Given the description of an element on the screen output the (x, y) to click on. 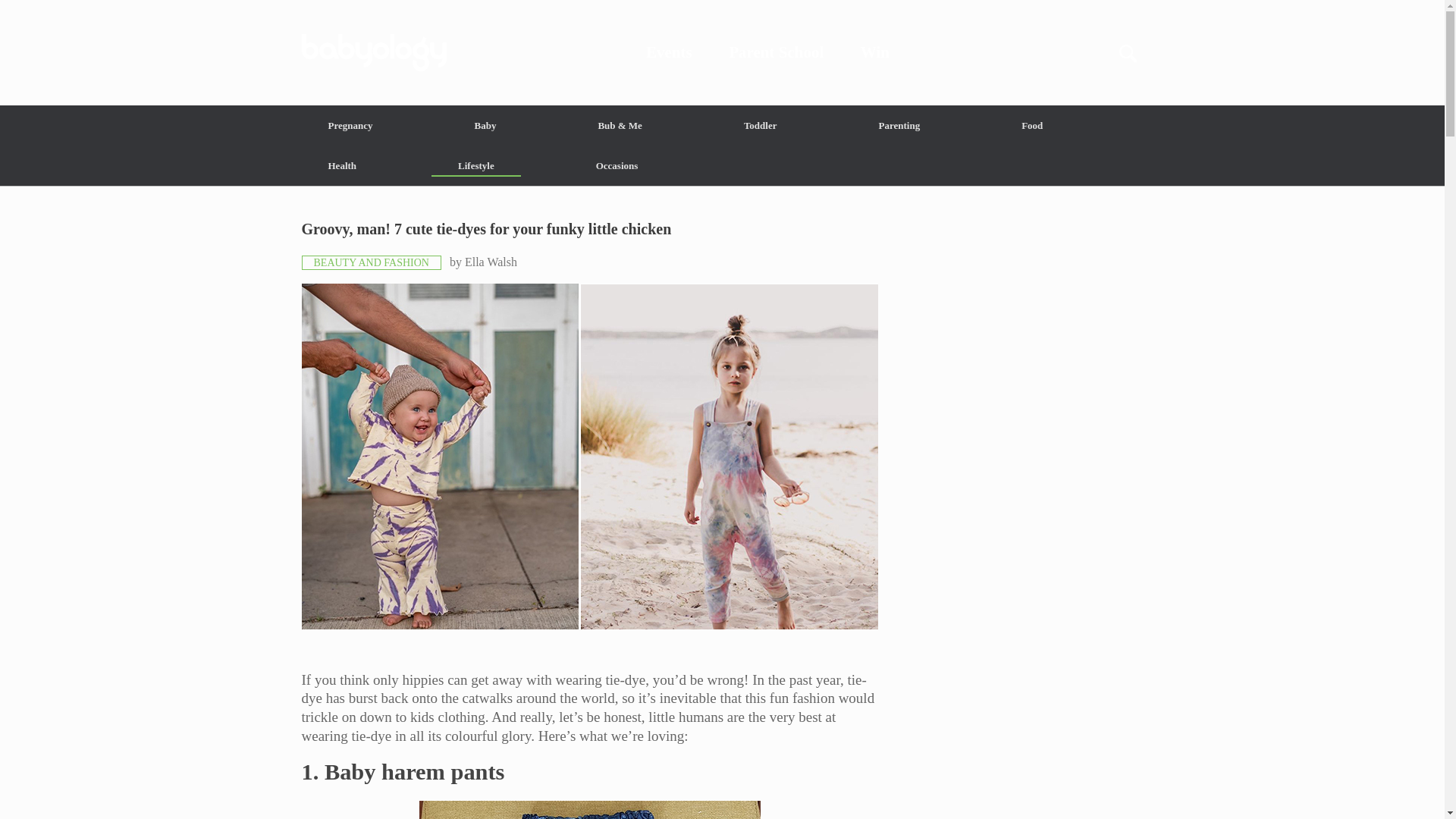
View all posts by Ella Walsh (490, 261)
Parenting (898, 125)
Events (669, 52)
Food (1031, 125)
Toddler (760, 125)
Win (874, 52)
Baby (484, 125)
Health (342, 165)
Occasions (617, 165)
Lifestyle (475, 165)
